Given the description of an element on the screen output the (x, y) to click on. 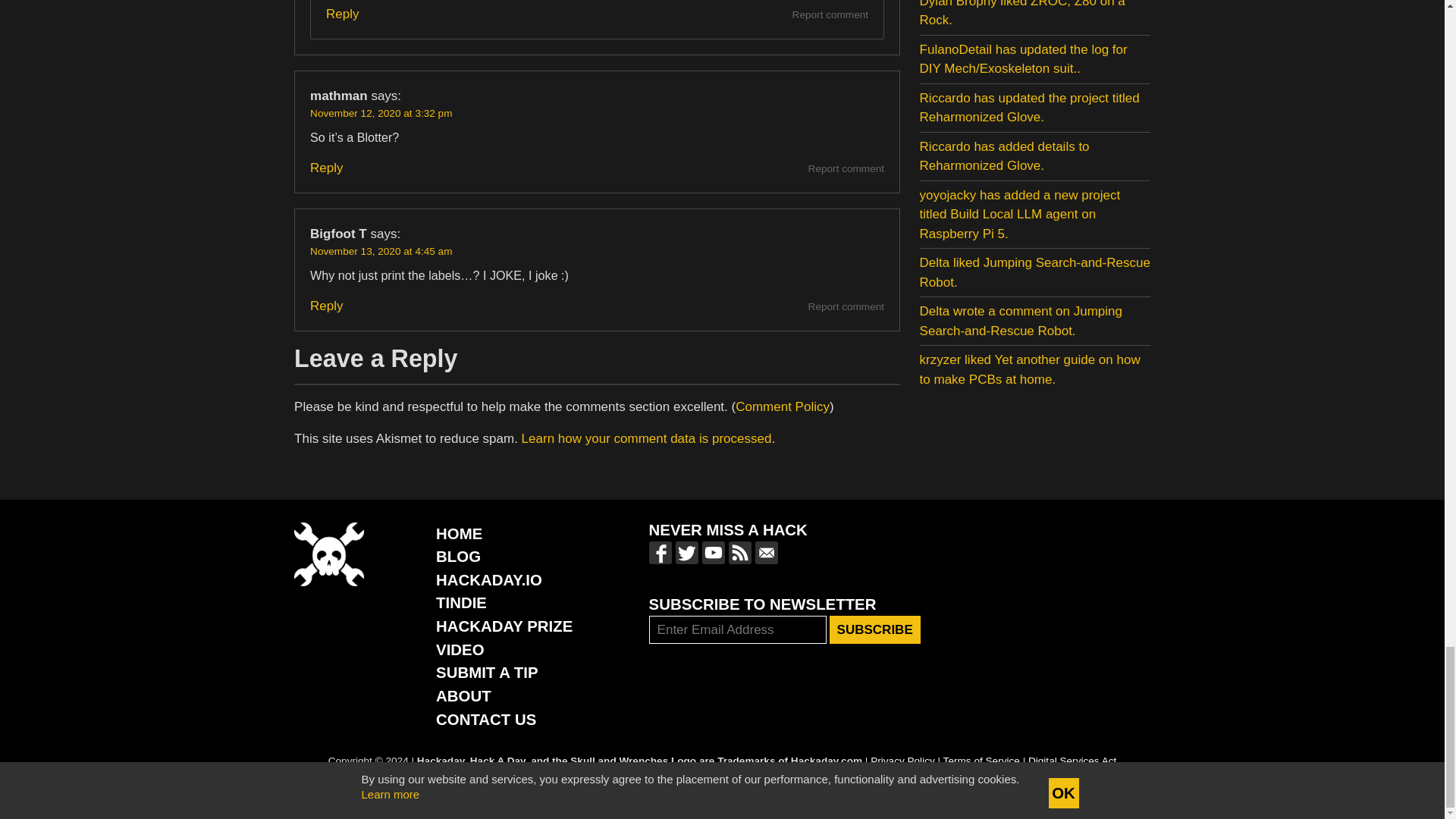
Subscribe (874, 629)
